Given the description of an element on the screen output the (x, y) to click on. 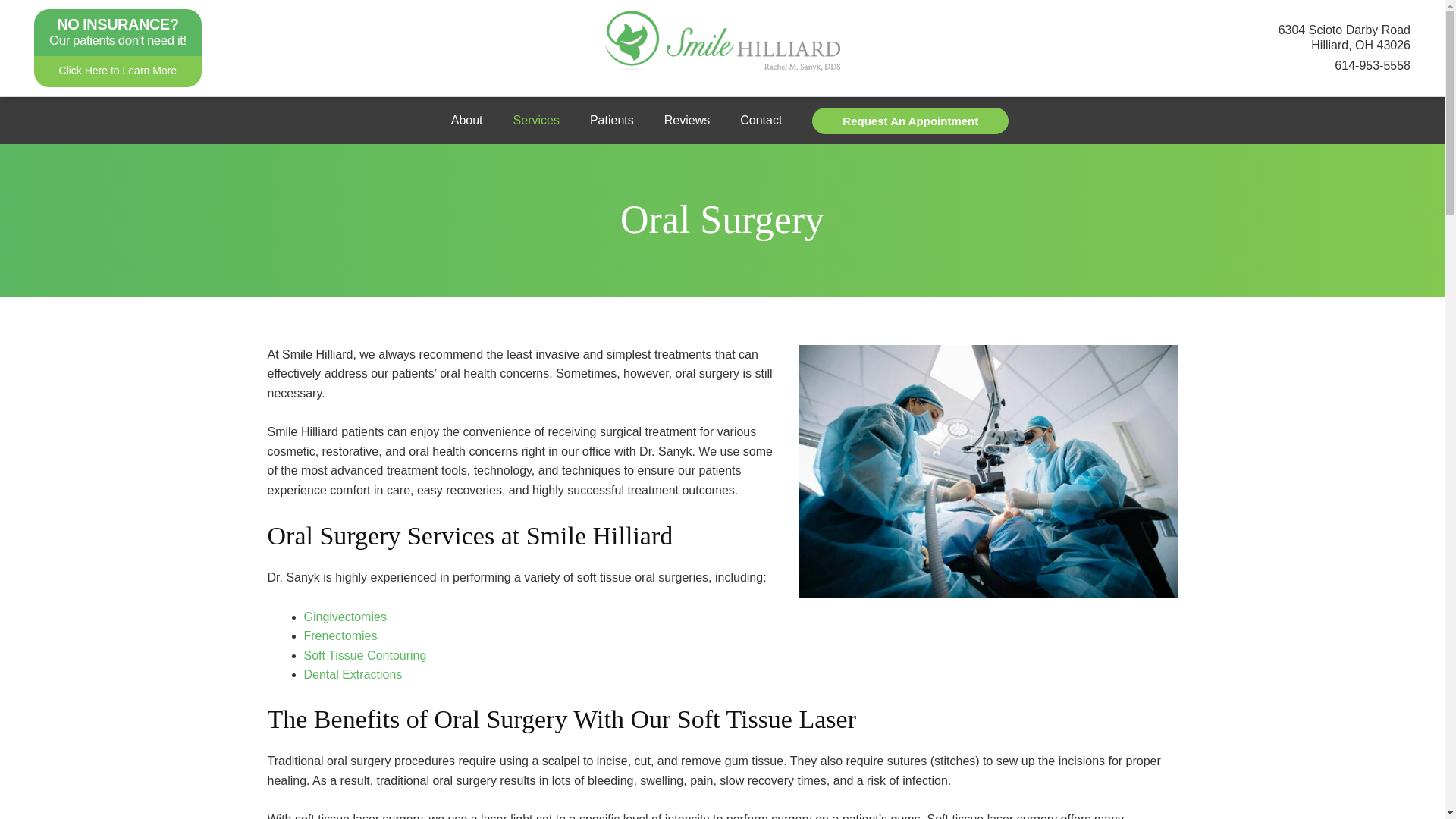
Click Here to Learn More (118, 70)
614-953-5558 (1372, 65)
Services (536, 120)
About (466, 120)
